Given the description of an element on the screen output the (x, y) to click on. 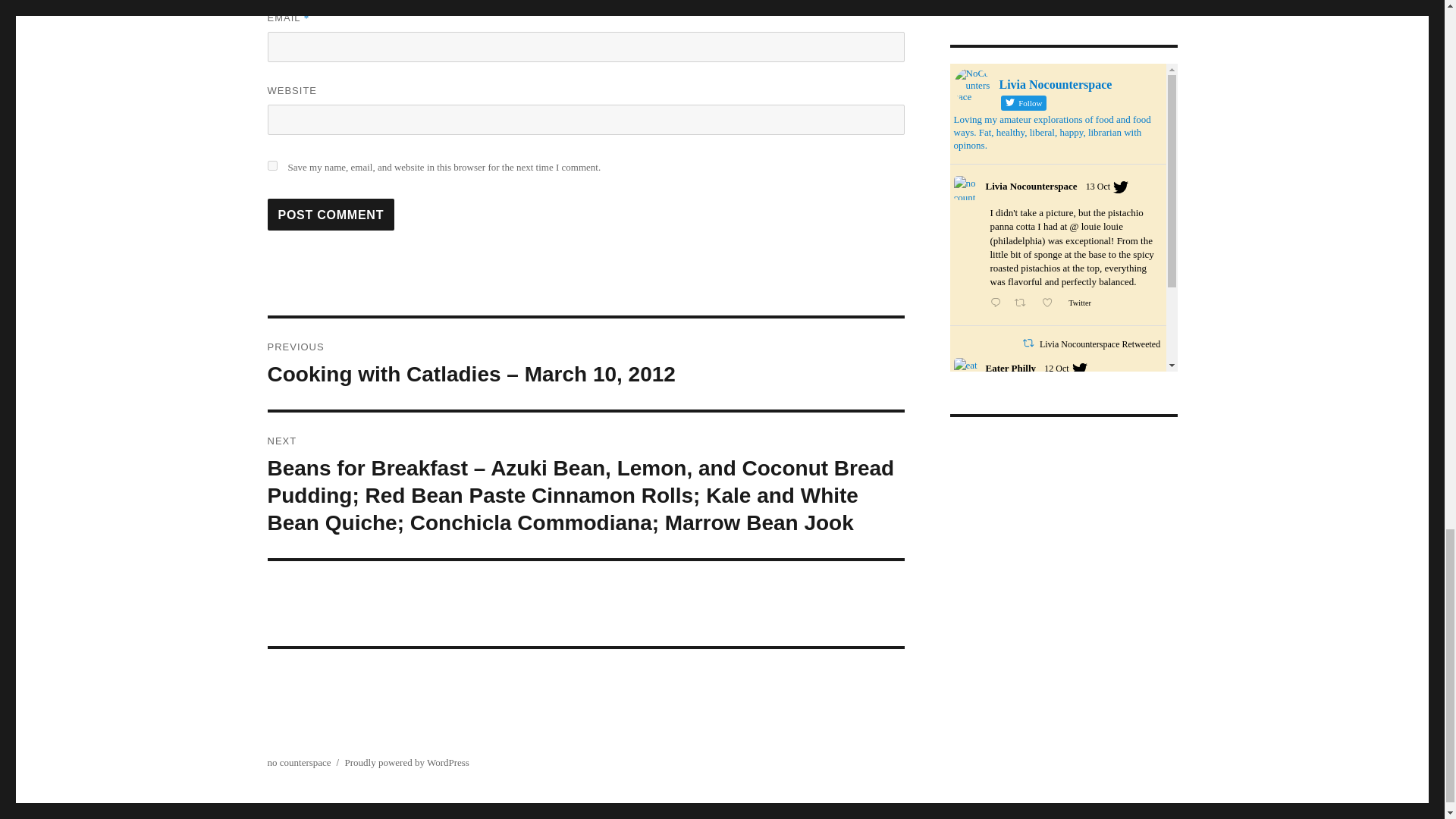
Post Comment (330, 214)
yes (271, 165)
Post Comment (330, 214)
